Given the description of an element on the screen output the (x, y) to click on. 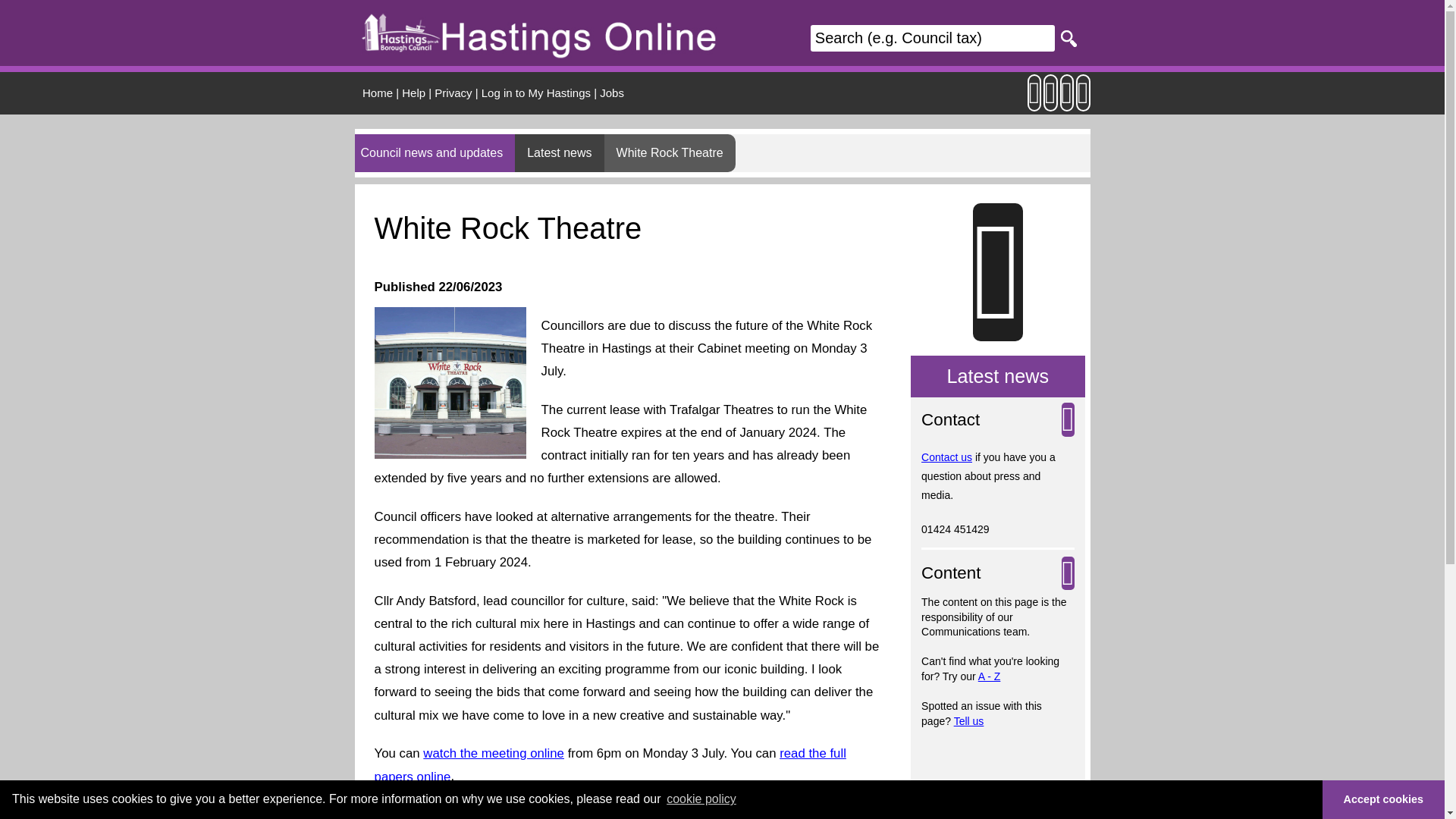
White Rock Theatre frontage (449, 382)
ModGov link to the Cabinet agenda for 3 July 2023 (609, 764)
Help (413, 92)
Council meetings videos (493, 753)
Jobs (611, 92)
watch the meeting online (493, 753)
Contact us (946, 457)
link to Hastings council Instagram (1050, 100)
Your privacy (452, 92)
Help using Hastings Online (413, 92)
link to Hastings council facebook page (1082, 100)
Jobs at Hastings Borough Council and other organisations (611, 92)
link to Hastings council twitter feed (1066, 100)
Internal link to My Hastings Contact Us form (946, 457)
Tell us (968, 720)
